Given the description of an element on the screen output the (x, y) to click on. 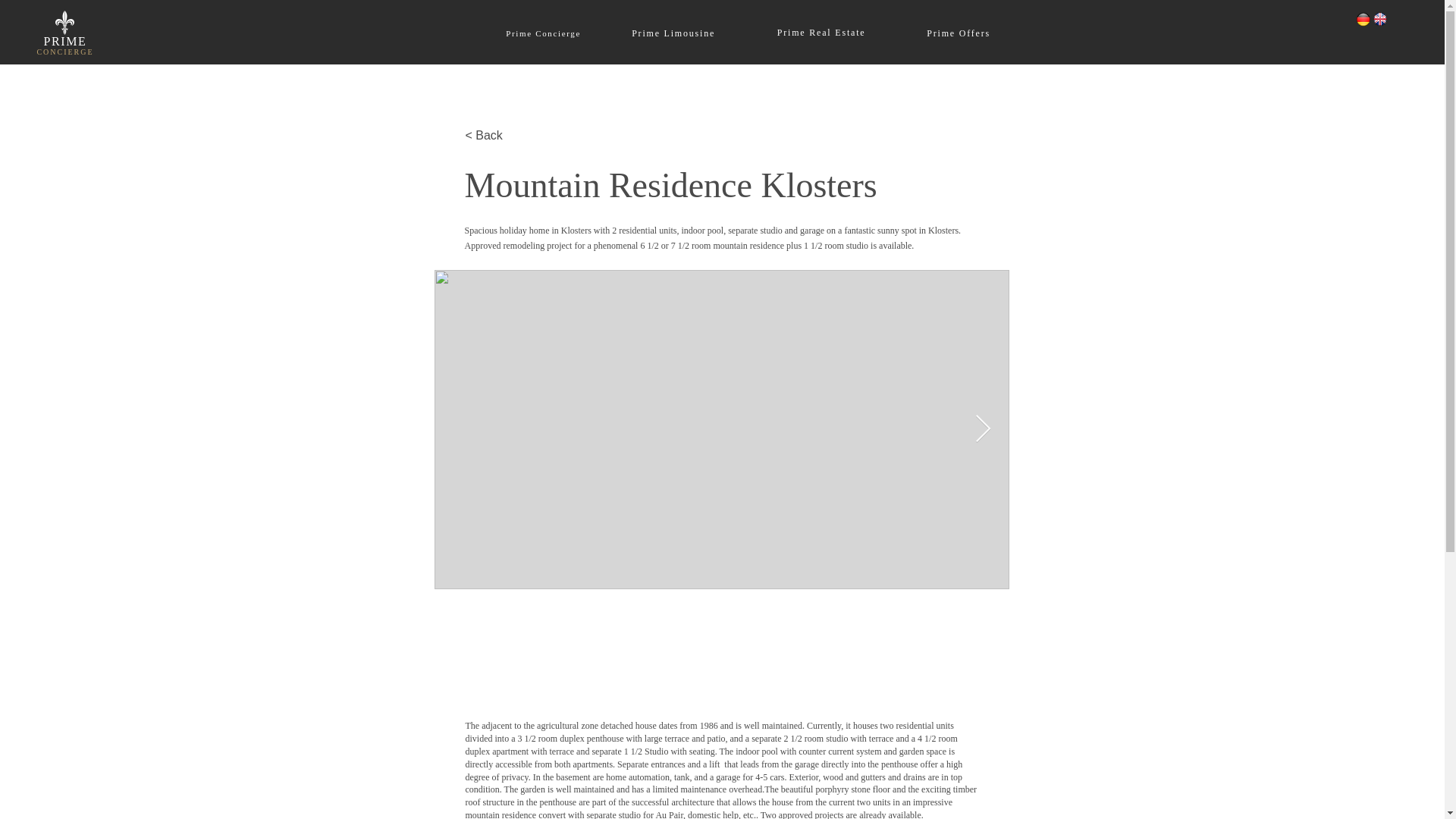
Prime Limousine (674, 33)
CONCIERGE (64, 51)
Prime Concierge (543, 33)
Prime Real Estate (821, 32)
PRIME (65, 41)
Prime Offers (959, 33)
